Given the description of an element on the screen output the (x, y) to click on. 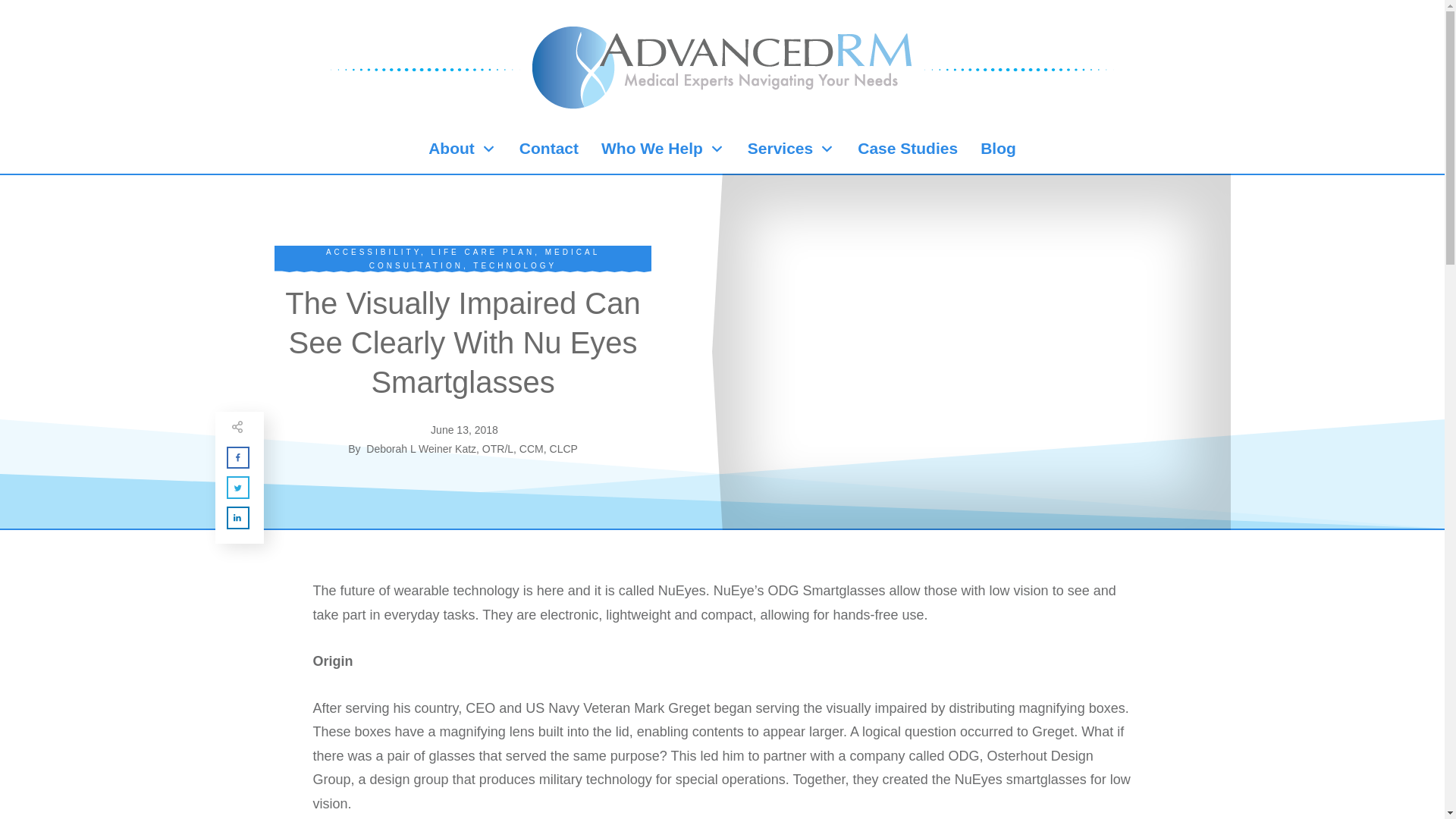
Who We Help (663, 148)
Asset 5 (424, 69)
About (462, 148)
Blog (997, 148)
Asset 5 (1018, 69)
Contact (548, 148)
Services (791, 148)
Case Studies (907, 148)
